Given the description of an element on the screen output the (x, y) to click on. 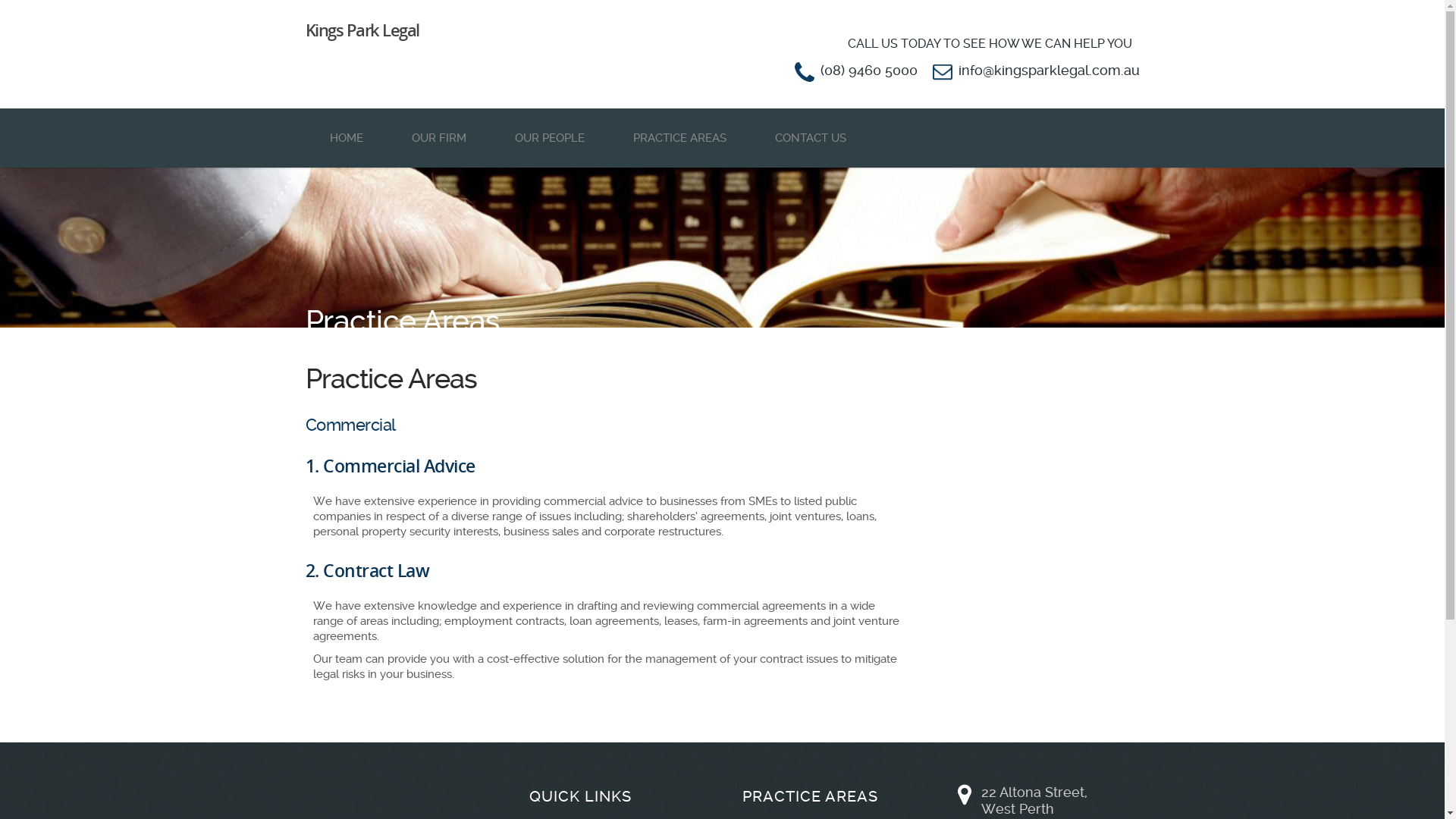
HOME Element type: text (345, 137)
OUR PEOPLE Element type: text (548, 137)
Kings Park Legal Element type: text (402, 29)
info@kingsparklegal.com.au Element type: text (1048, 70)
OUR FIRM Element type: text (437, 137)
PRACTICE AREAS Element type: text (678, 137)
CONTACT US Element type: text (810, 137)
